Given the description of an element on the screen output the (x, y) to click on. 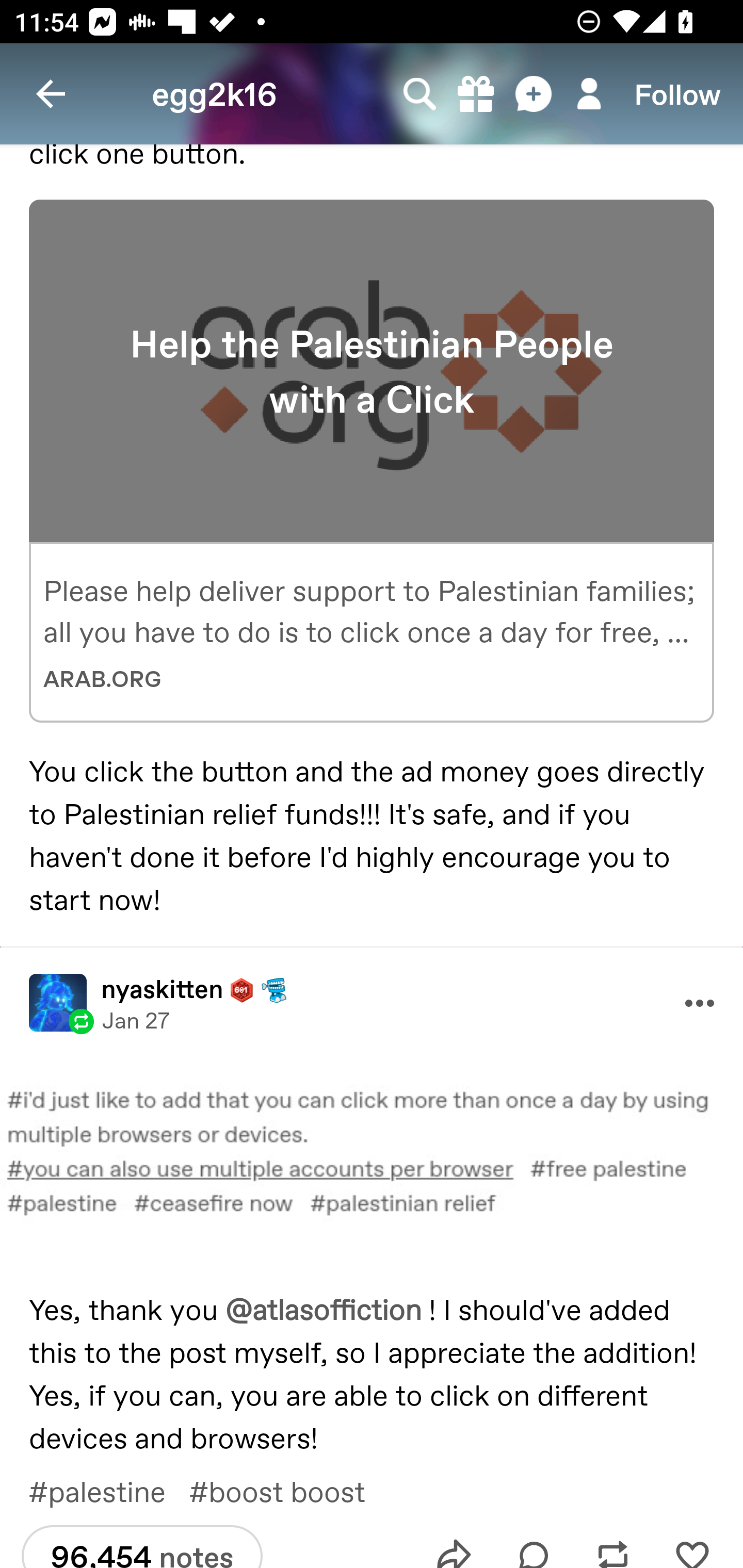
Navigate up (50, 93)
Messages (535, 93)
Follow (677, 93)
#palestine (108, 1490)
#boost boost (291, 1490)
Share post to message (454, 1538)
Reply (533, 1538)
Reblog (612, 1538)
Like (691, 1538)
96,454 notes (141, 1546)
